Given the description of an element on the screen output the (x, y) to click on. 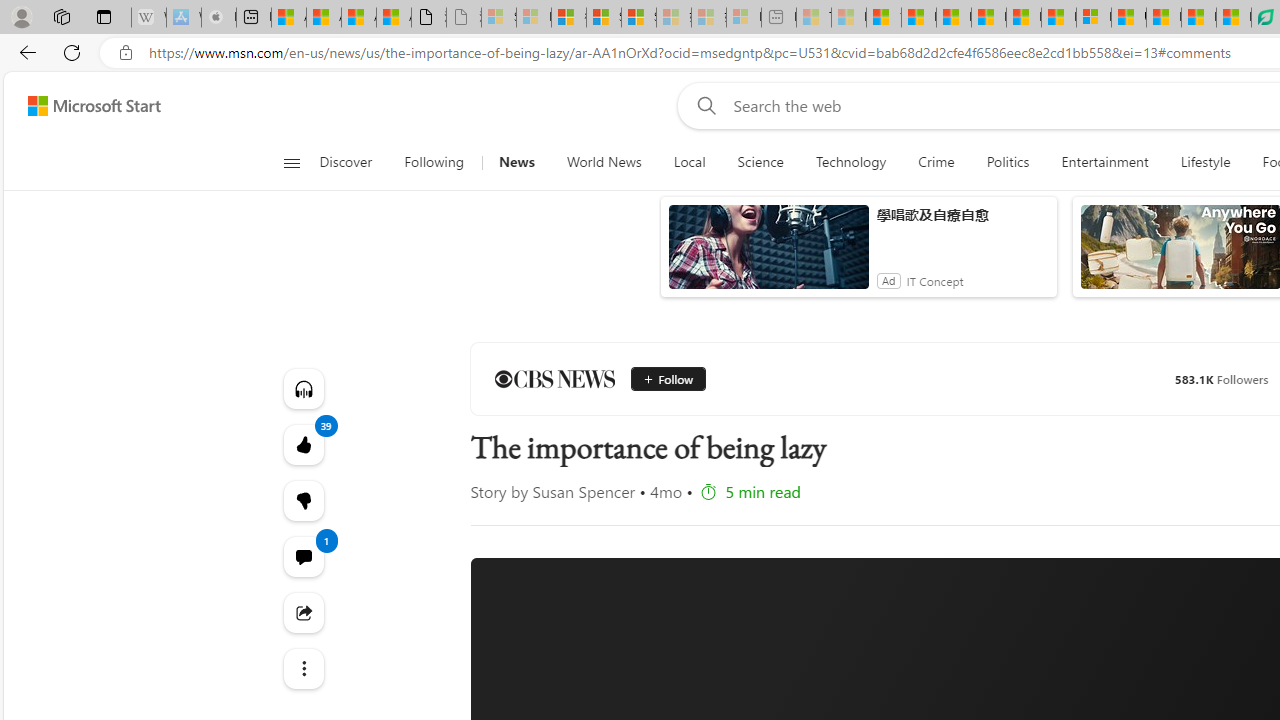
US Heat Deaths Soared To Record High Last Year (1128, 17)
Top Stories - MSN - Sleeping (813, 17)
